Given the description of an element on the screen output the (x, y) to click on. 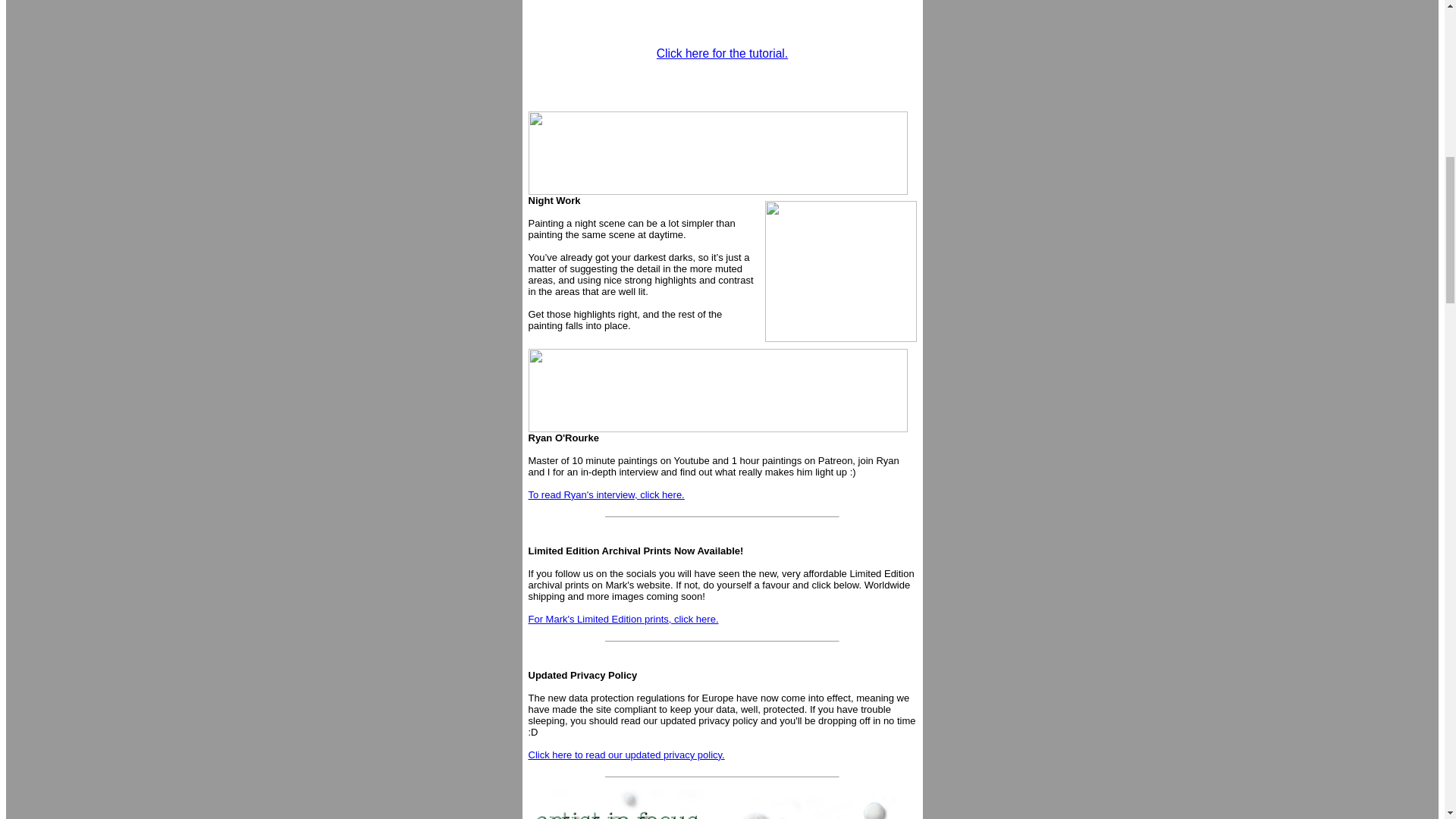
Acrylics Anonymous News (717, 390)
your work, your time to shine. (717, 803)
Click here to read our updated privacy policy. (625, 754)
Ryan O'Rourke (562, 437)
To read Ryan's interview, click here. (605, 494)
Your Acrylic Painting Tip of the Month! (717, 152)
Night Work (553, 205)
Click here for the tutorial. (721, 52)
For Mark's Limited Edition prints, click here. (622, 618)
